Given the description of an element on the screen output the (x, y) to click on. 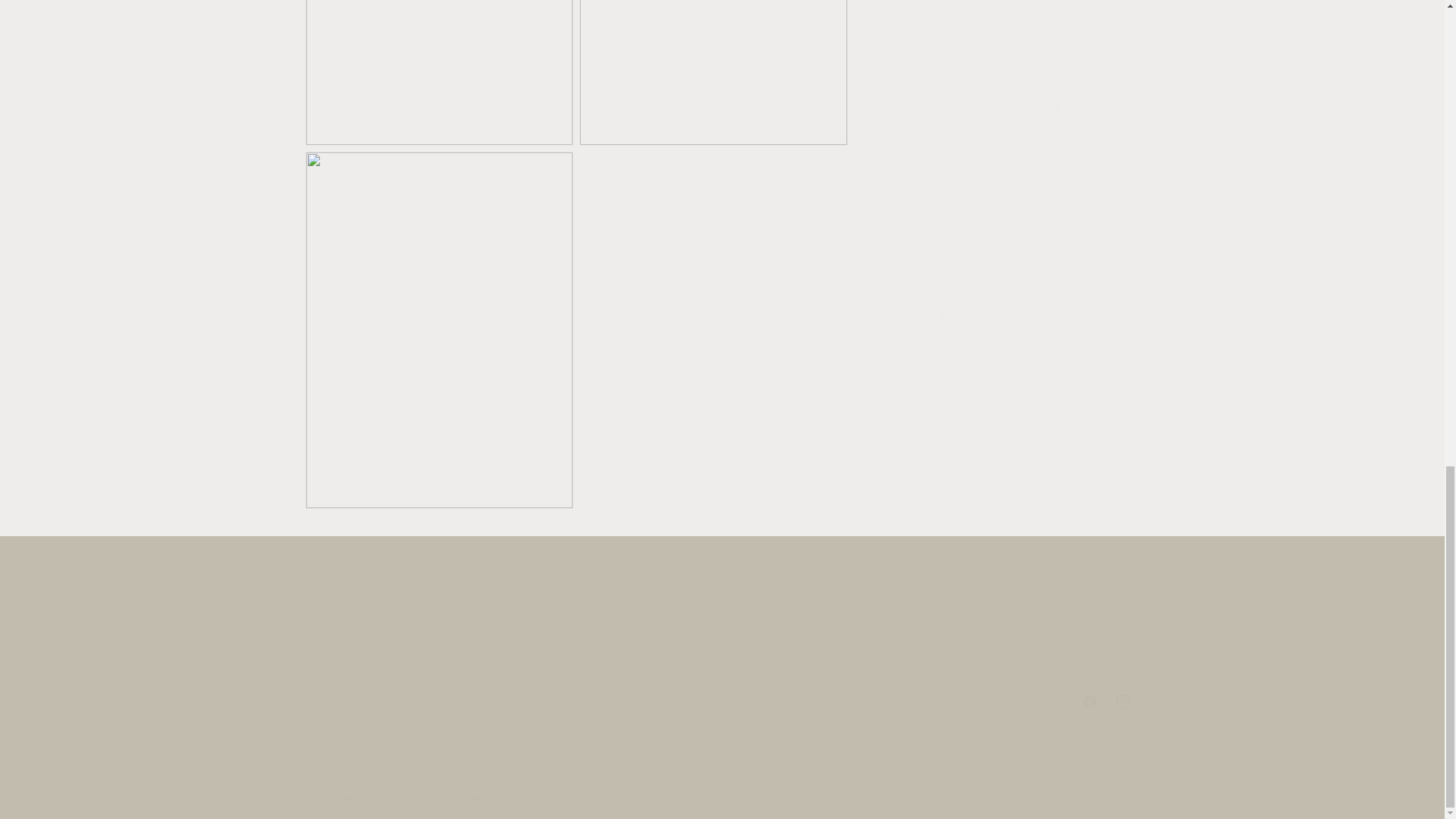
Open media 2 in modal (438, 65)
Patsy's Place of Elkville, IL (374, 639)
Facebook (1088, 701)
Contact Us (753, 663)
1300 Walnut St. Murphysboro, IL 62966 (931, 635)
About Us (406, 663)
